Given the description of an element on the screen output the (x, y) to click on. 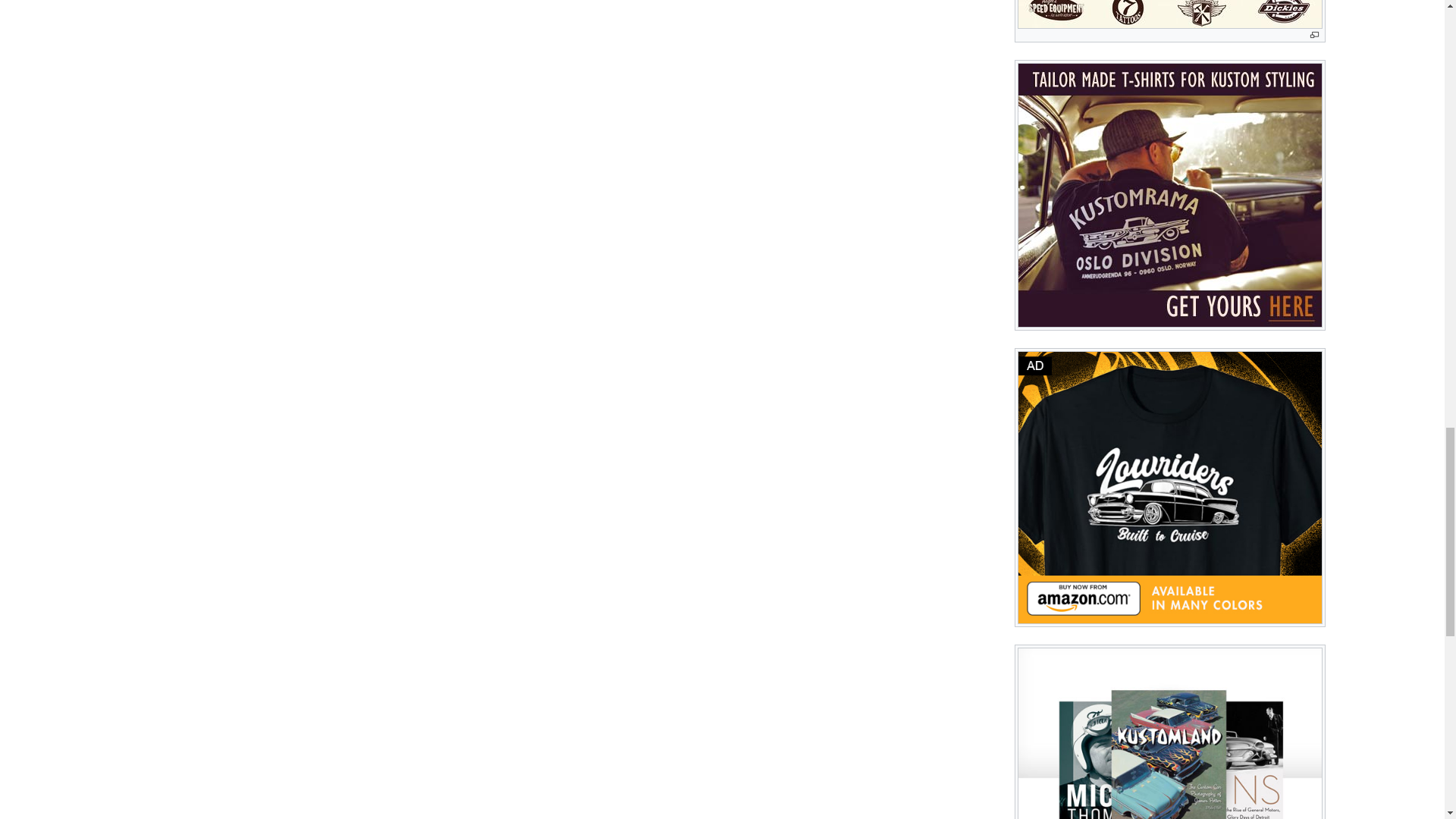
Enlarge (1314, 35)
